Given the description of an element on the screen output the (x, y) to click on. 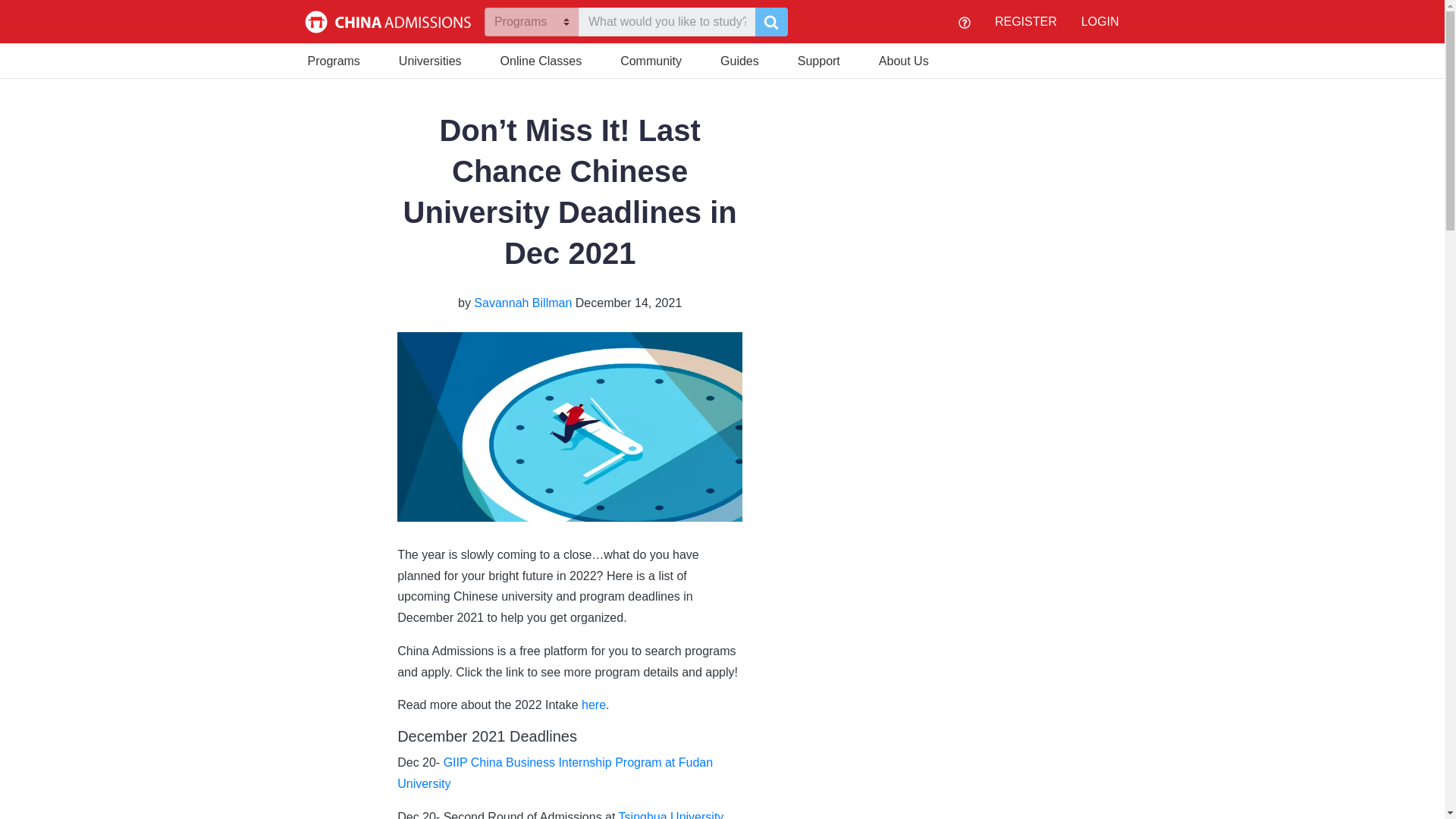
Programs (333, 59)
LOGIN (1100, 20)
REGISTER (1025, 20)
